Given the description of an element on the screen output the (x, y) to click on. 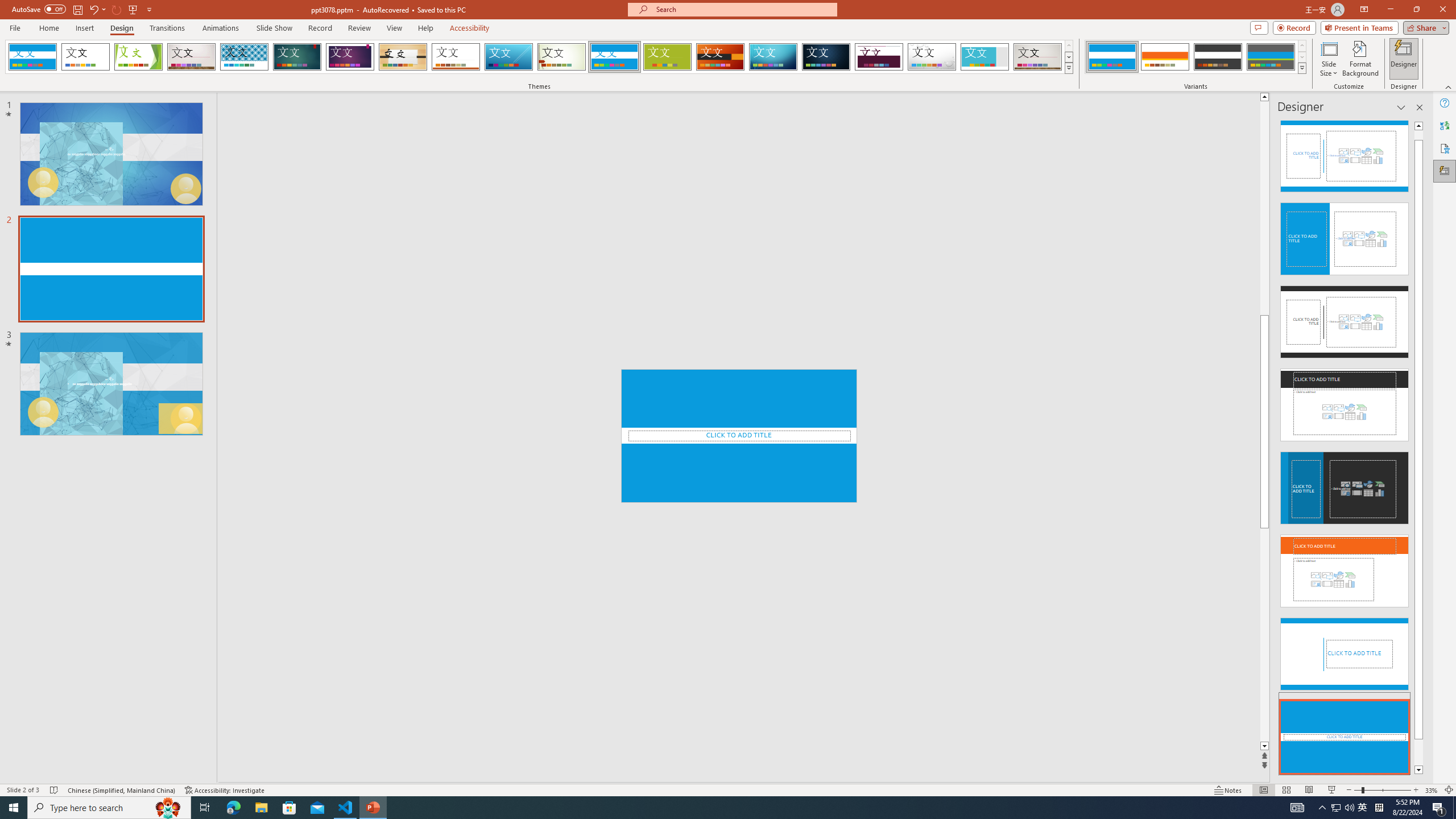
Damask (826, 56)
AutomationID: ThemeVariantsGallery (1195, 56)
Banded Variant 3 (1217, 56)
Themes (1068, 67)
